Given the description of an element on the screen output the (x, y) to click on. 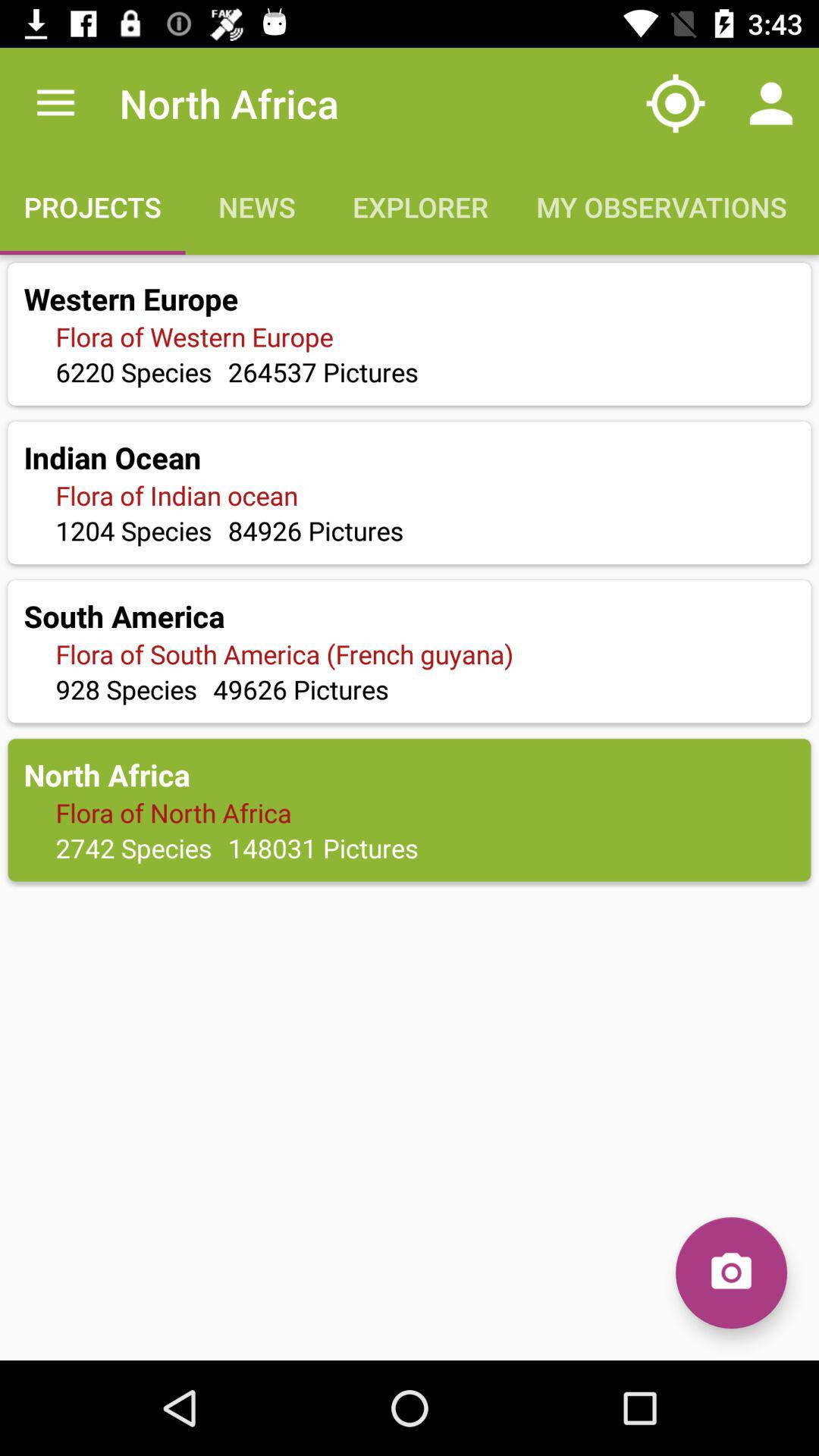
open the app to the right of the north africa (675, 103)
